Given the description of an element on the screen output the (x, y) to click on. 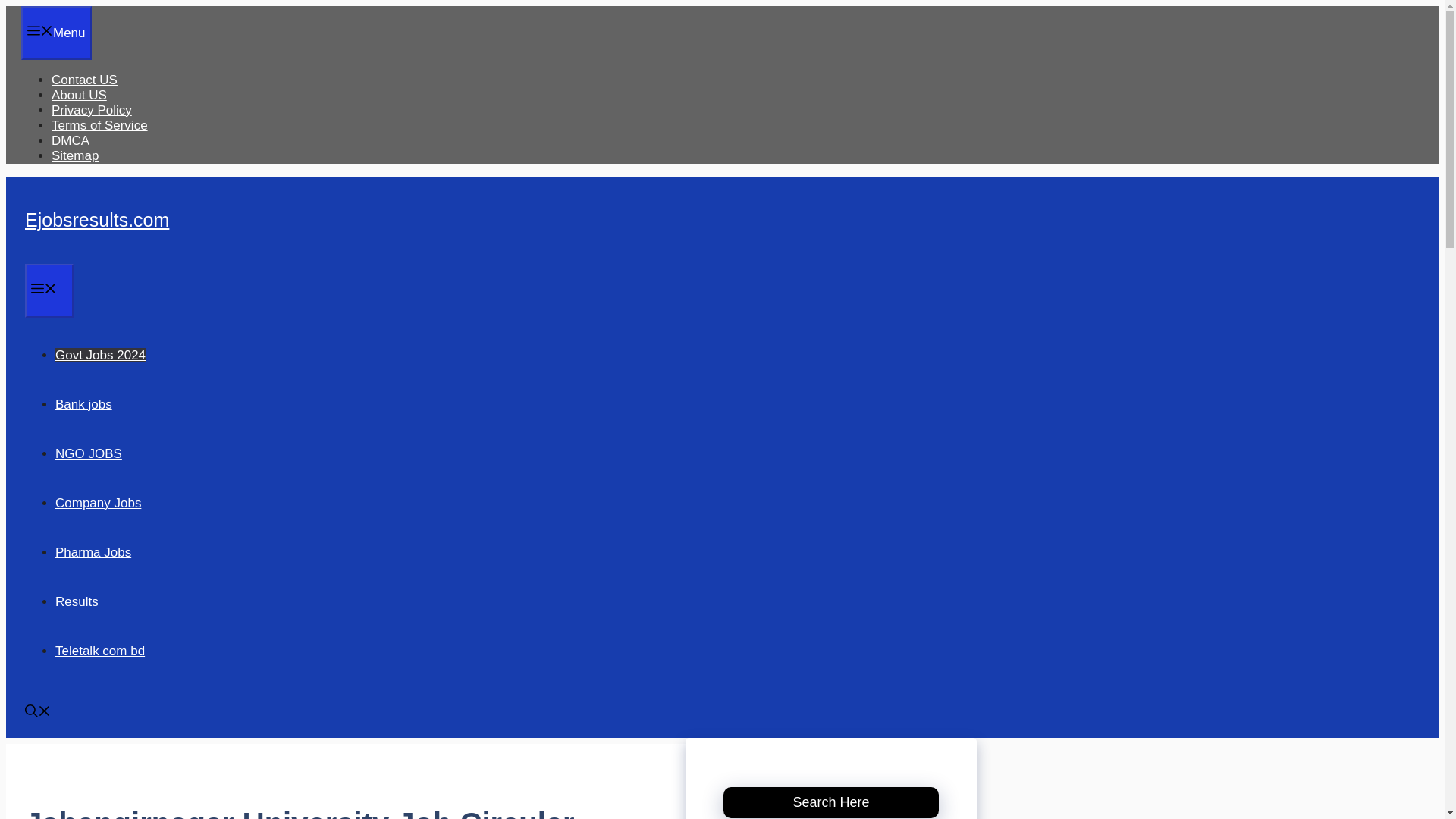
Menu (56, 32)
Company Jobs (98, 503)
Results (77, 601)
Privacy Policy (91, 110)
Sitemap (74, 155)
Pharma Jobs (93, 552)
Menu (49, 290)
Terms of Service (99, 124)
